Given the description of an element on the screen output the (x, y) to click on. 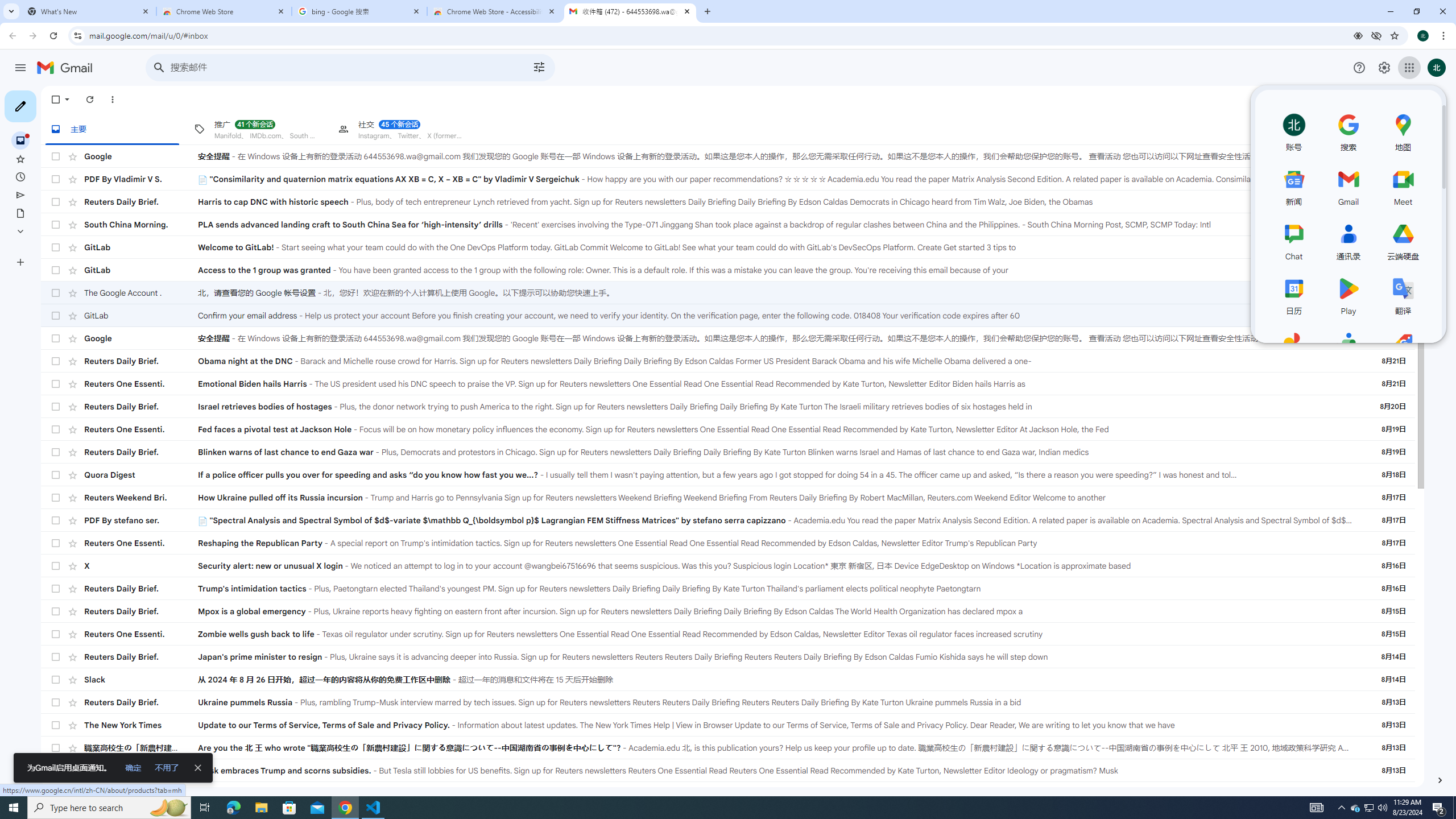
View site information (77, 35)
Tasks (1439, 165)
